Given the description of an element on the screen output the (x, y) to click on. 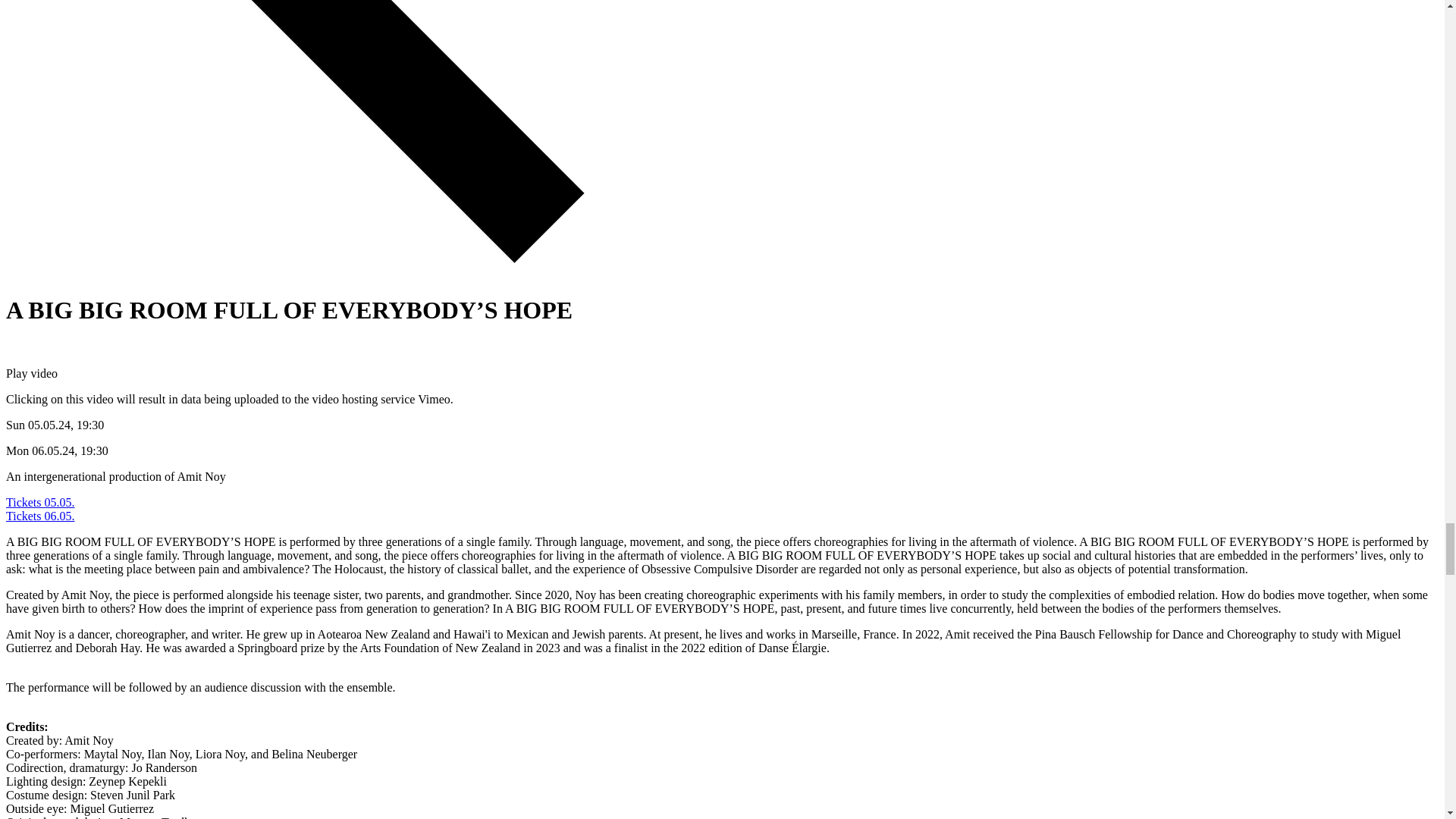
Tickets 05.05. (40, 502)
Tickets 06.05. (40, 515)
